Given the description of an element on the screen output the (x, y) to click on. 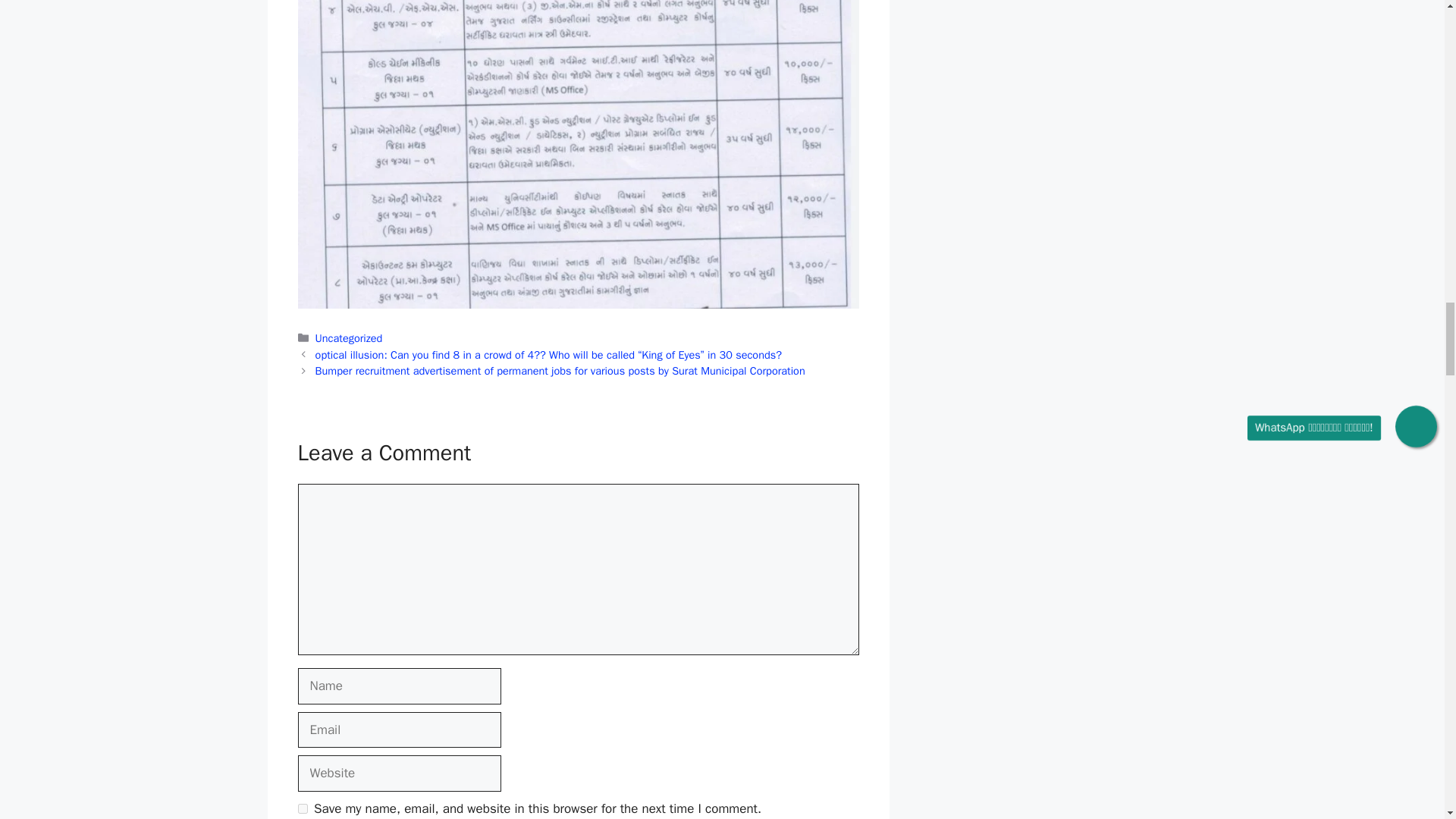
yes (302, 808)
Uncategorized (348, 337)
